Given the description of an element on the screen output the (x, y) to click on. 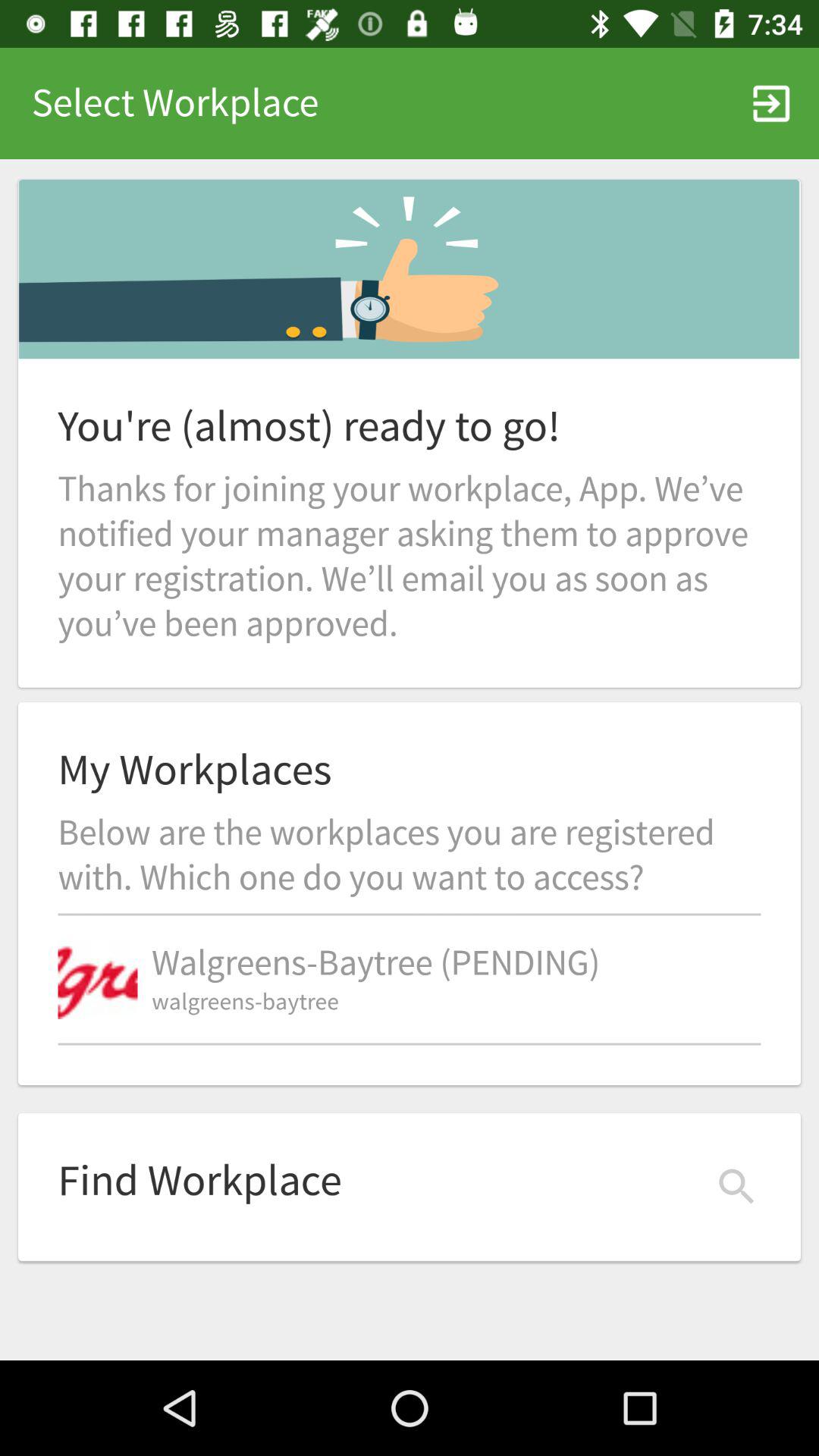
tap the item at the top right corner (771, 103)
